Given the description of an element on the screen output the (x, y) to click on. 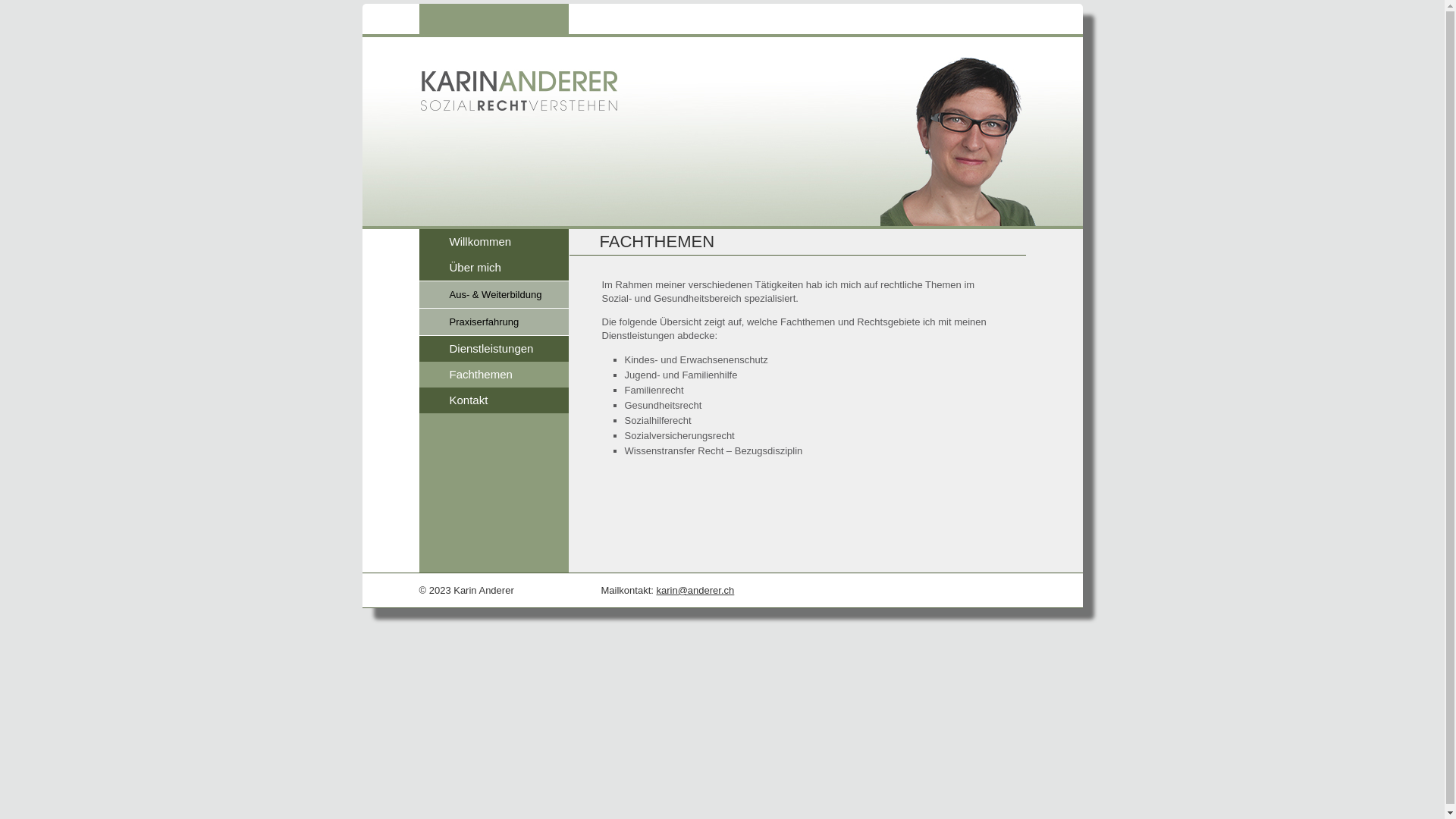
Kontakt Element type: text (467, 399)
karin@anderer.ch Element type: text (694, 590)
Fachthemen Element type: text (479, 373)
Willkommen Element type: text (479, 241)
Dienstleistungen Element type: text (490, 348)
Praxiserfahrung Element type: text (483, 321)
Aus- & Weiterbildung Element type: text (494, 294)
